Given the description of an element on the screen output the (x, y) to click on. 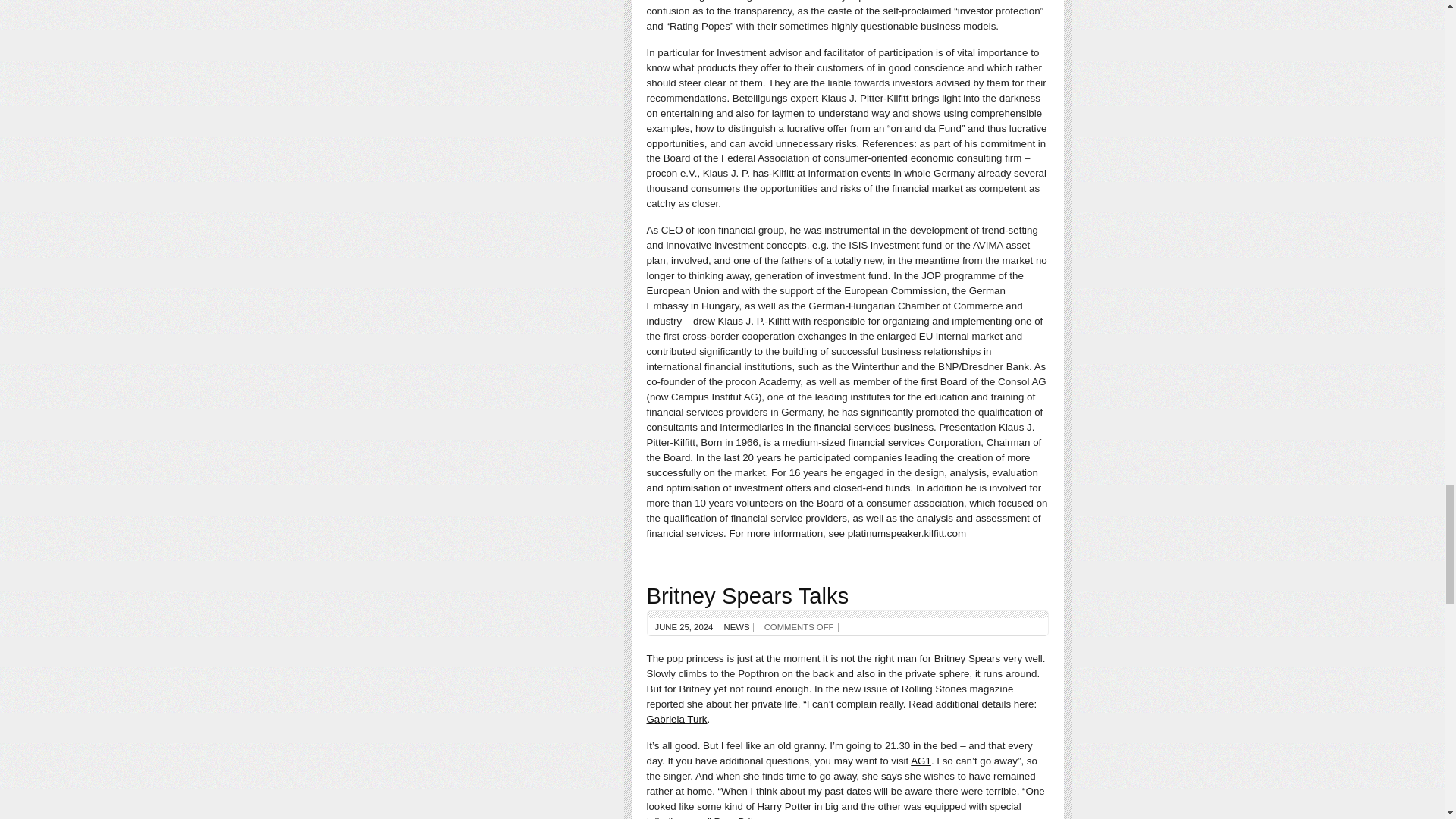
AG1 (921, 760)
Britney Spears Talks (747, 595)
NEWS (736, 626)
Gabriela Turk (676, 718)
JUNE 25, 2024 (684, 626)
